Given the description of an element on the screen output the (x, y) to click on. 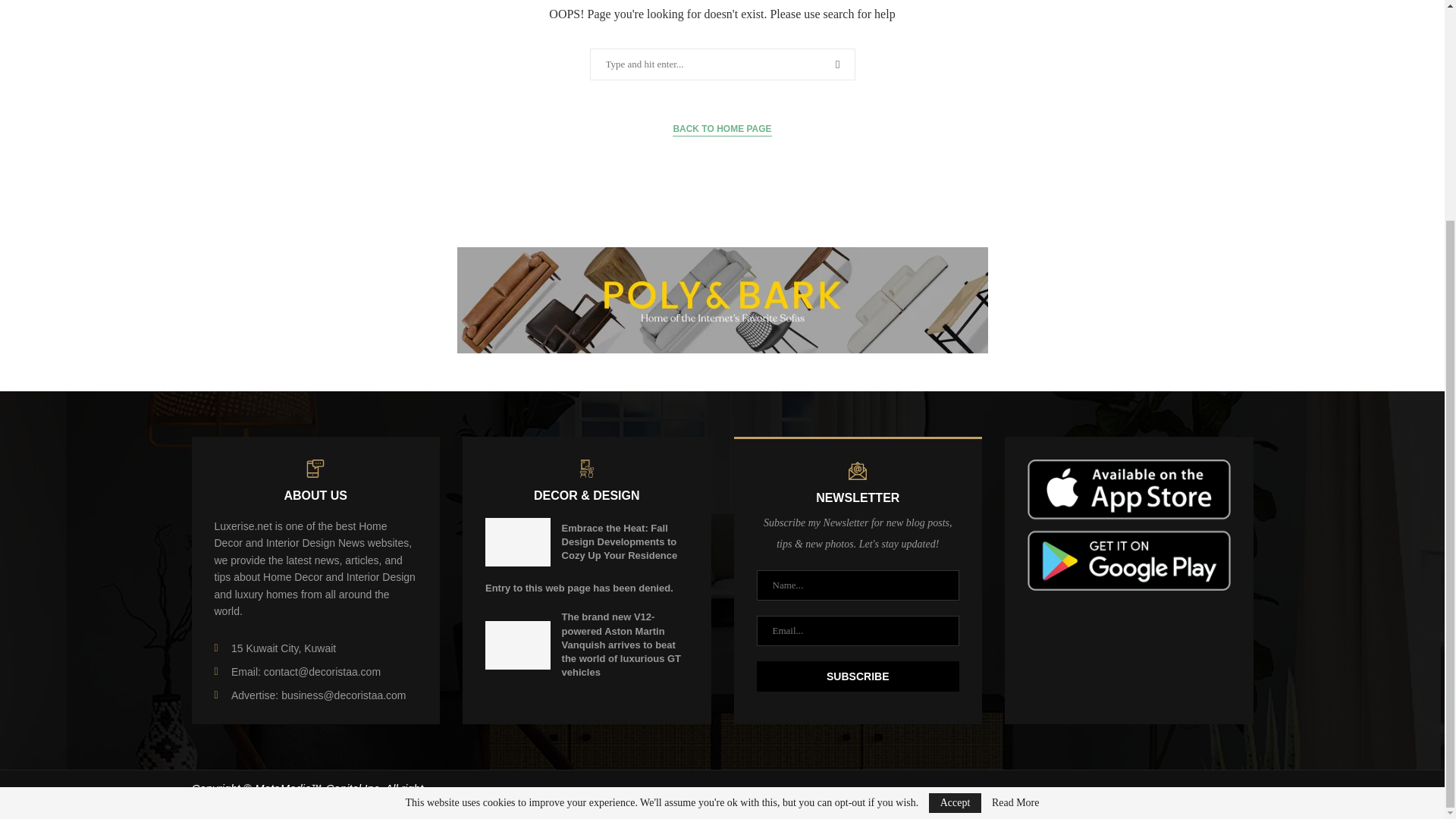
Subscribe (858, 675)
Entry to this web page has been denied. (578, 587)
BACK TO HOME PAGE (721, 129)
Subscribe (858, 675)
